Given the description of an element on the screen output the (x, y) to click on. 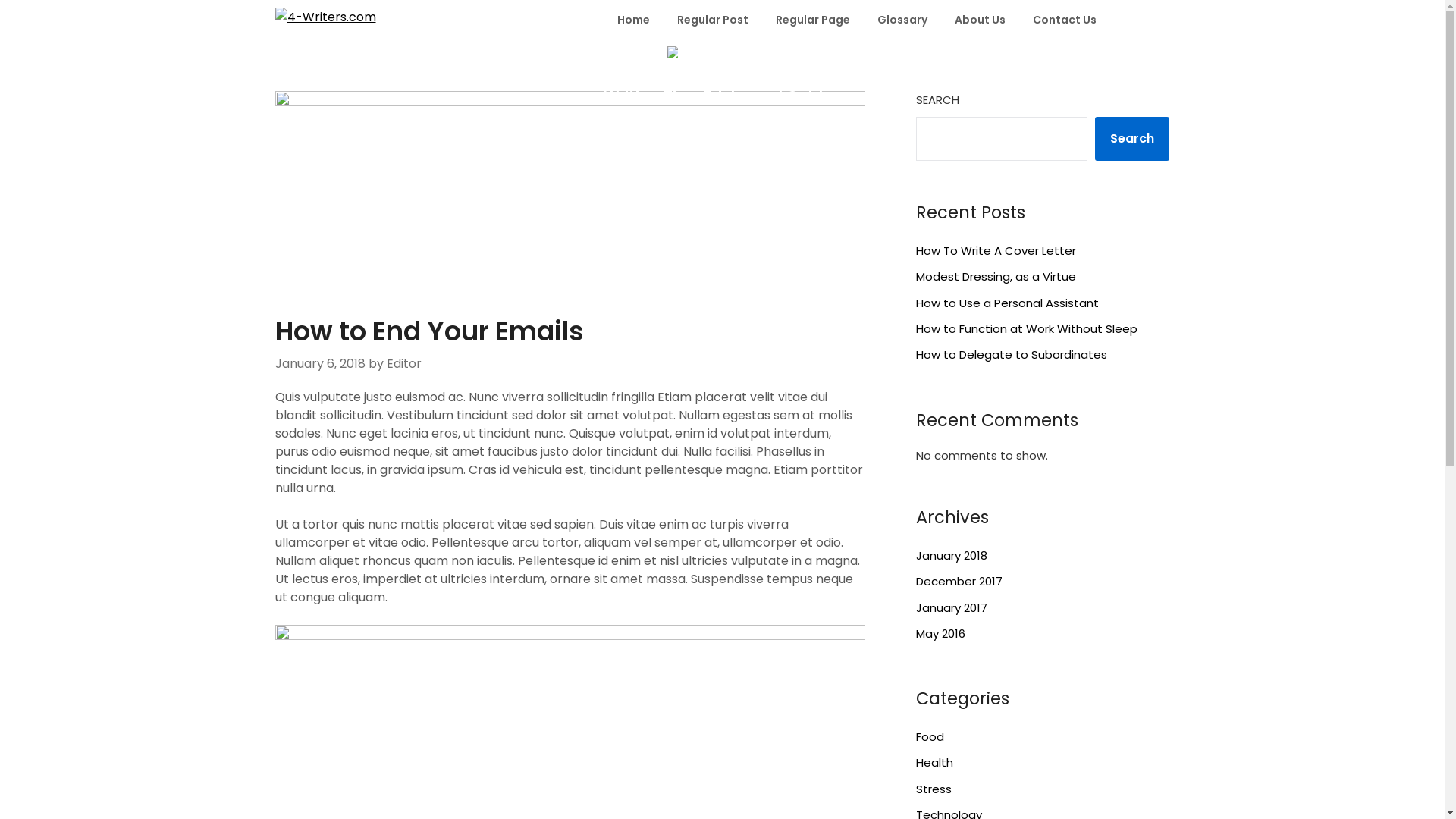
How To Write A Cover Letter Element type: text (996, 250)
How to Delegate to Subordinates Element type: text (1011, 354)
Home Element type: text (633, 20)
January 6, 2018 Element type: text (319, 363)
Contact Us Element type: text (1064, 20)
Food Element type: text (930, 736)
Search Element type: text (1132, 138)
Glossary Element type: text (901, 20)
January 2017 Element type: text (951, 607)
January 2018 Element type: text (951, 555)
Regular Page Element type: text (811, 20)
Regular Post Element type: text (711, 20)
May 2016 Element type: text (940, 633)
Health Element type: text (934, 762)
Stress Element type: text (933, 789)
How to Use a Personal Assistant Element type: text (1007, 302)
Modest Dressing, as a Virtue Element type: text (996, 276)
About Us Element type: text (978, 20)
December 2017 Element type: text (959, 581)
How to Function at Work Without Sleep Element type: text (1026, 328)
